Given the description of an element on the screen output the (x, y) to click on. 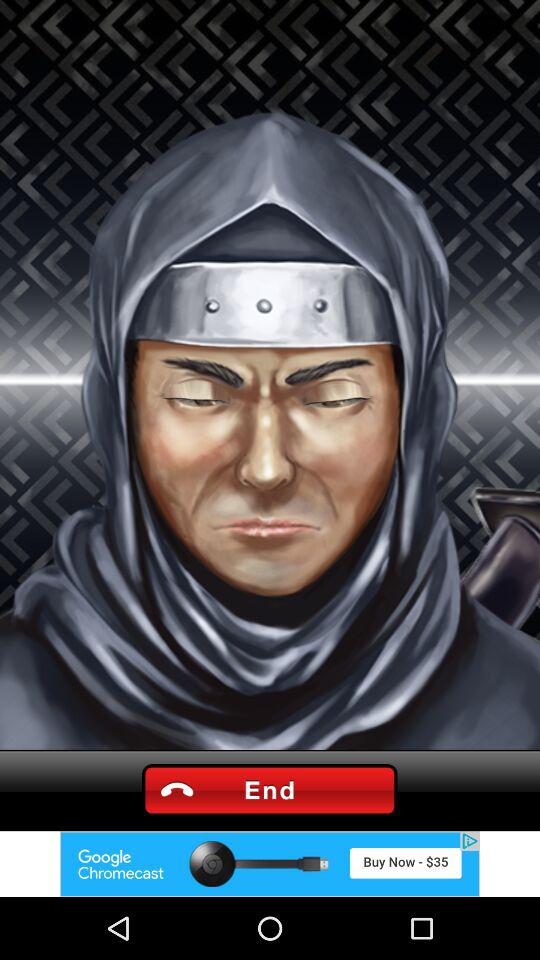
adventisment page (270, 864)
